Given the description of an element on the screen output the (x, y) to click on. 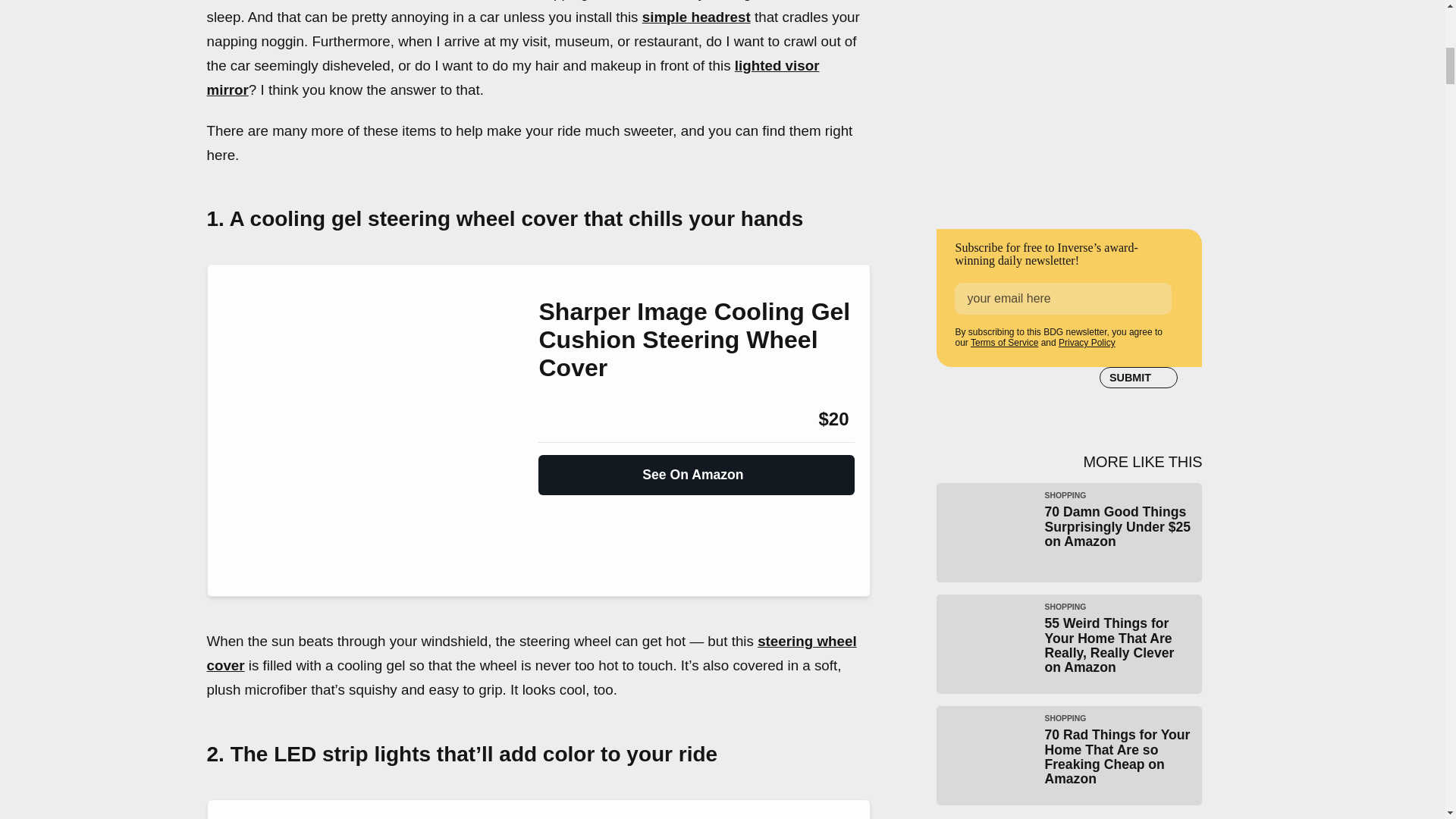
Amazon (579, 419)
lighted visor mirror (512, 77)
Echo Auto (262, 0)
simple headrest (696, 17)
steering wheel cover (531, 653)
See On Amazon (696, 468)
